Given the description of an element on the screen output the (x, y) to click on. 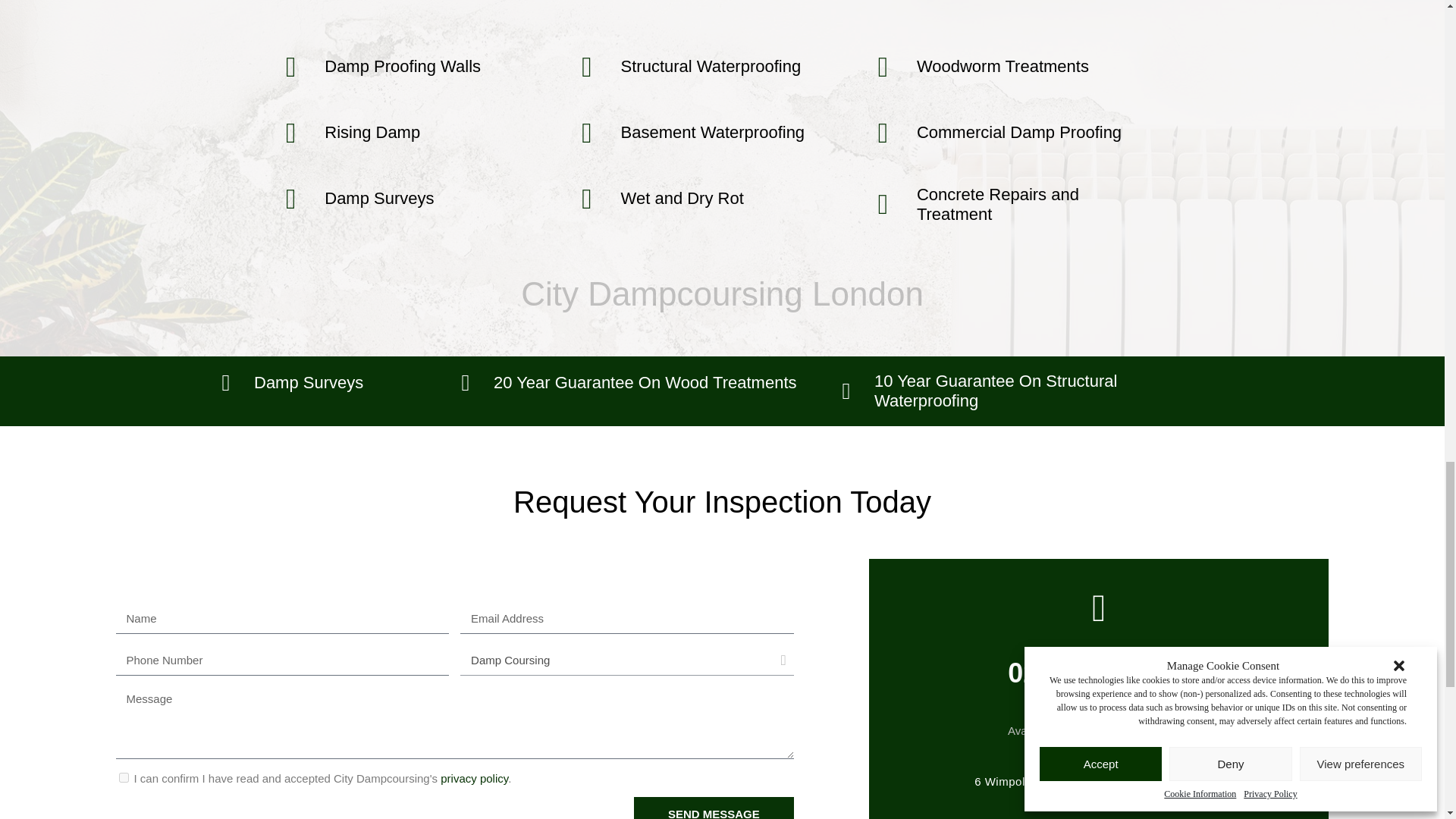
on (122, 777)
privacy policy (474, 778)
SEND MESSAGE (713, 807)
020 8509 0470 (1098, 672)
